Given the description of an element on the screen output the (x, y) to click on. 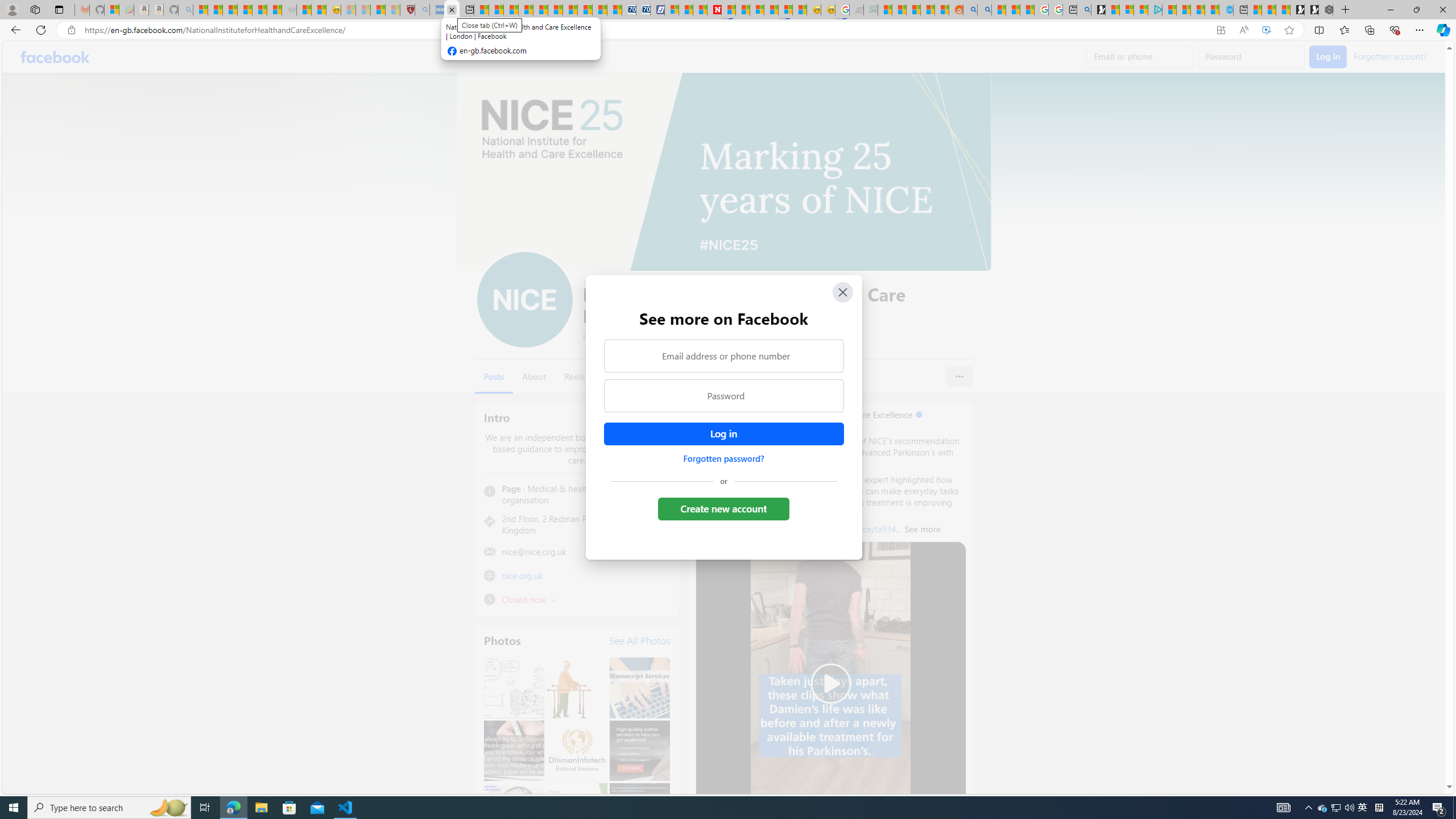
Microsoft Start Gaming (1097, 9)
Password (723, 395)
Student Loan Update: Forgiveness Program Ends This Month (927, 9)
World - MSN (510, 9)
Cheap Car Rentals - Save70.com (628, 9)
Facebook (55, 56)
